Given the description of an element on the screen output the (x, y) to click on. 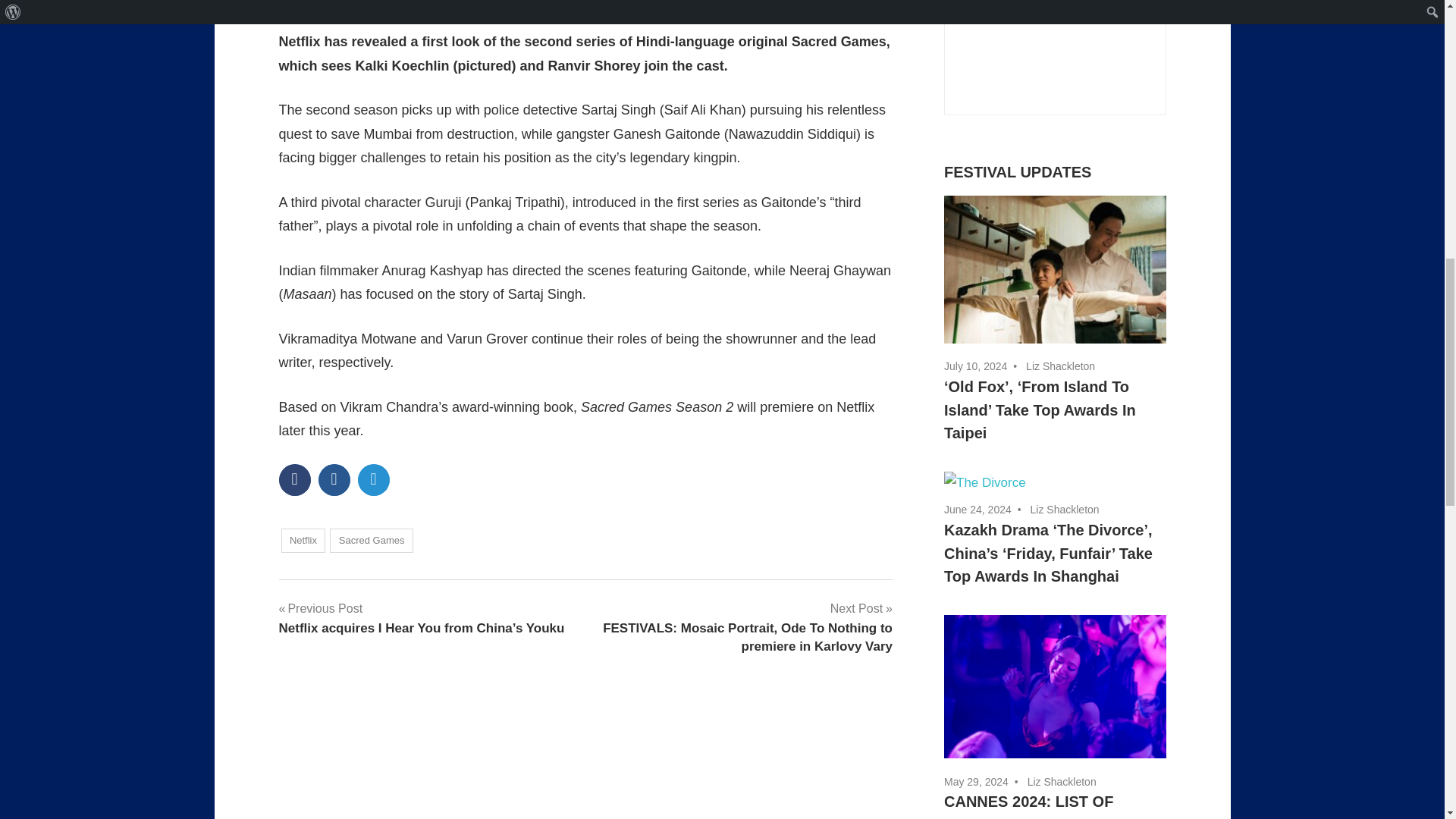
10:21 pm (975, 366)
View all posts from category FESTIVALS (1016, 171)
Liz Shackleton (381, 3)
View all posts by Liz Shackleton (1064, 509)
2:46 am (977, 509)
View all posts by Liz Shackleton (1061, 781)
View all posts by Liz Shackleton (381, 3)
View all posts by Liz Shackleton (1060, 366)
12:16 am (976, 781)
